Given the description of an element on the screen output the (x, y) to click on. 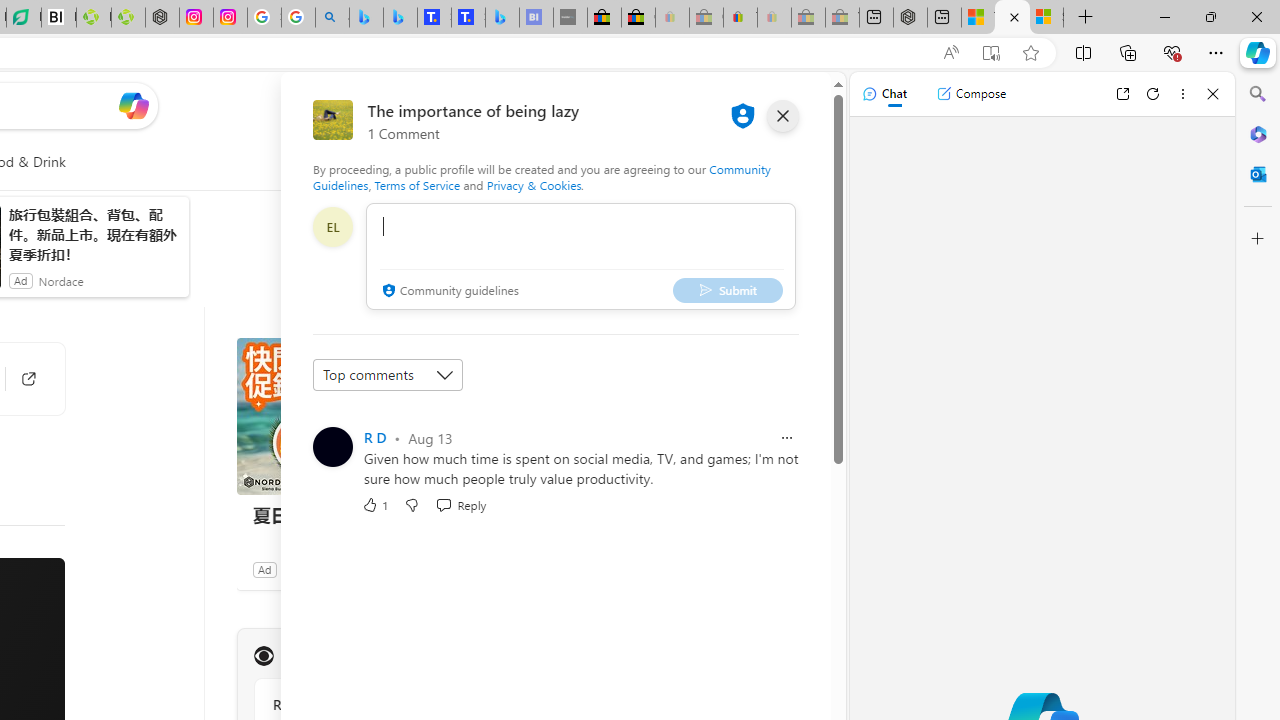
close (782, 115)
Microsoft Bing Travel - Flights from Hong Kong to Bangkok (365, 17)
Microsoft Bing Travel - Shangri-La Hotel Bangkok (502, 17)
